Given the description of an element on the screen output the (x, y) to click on. 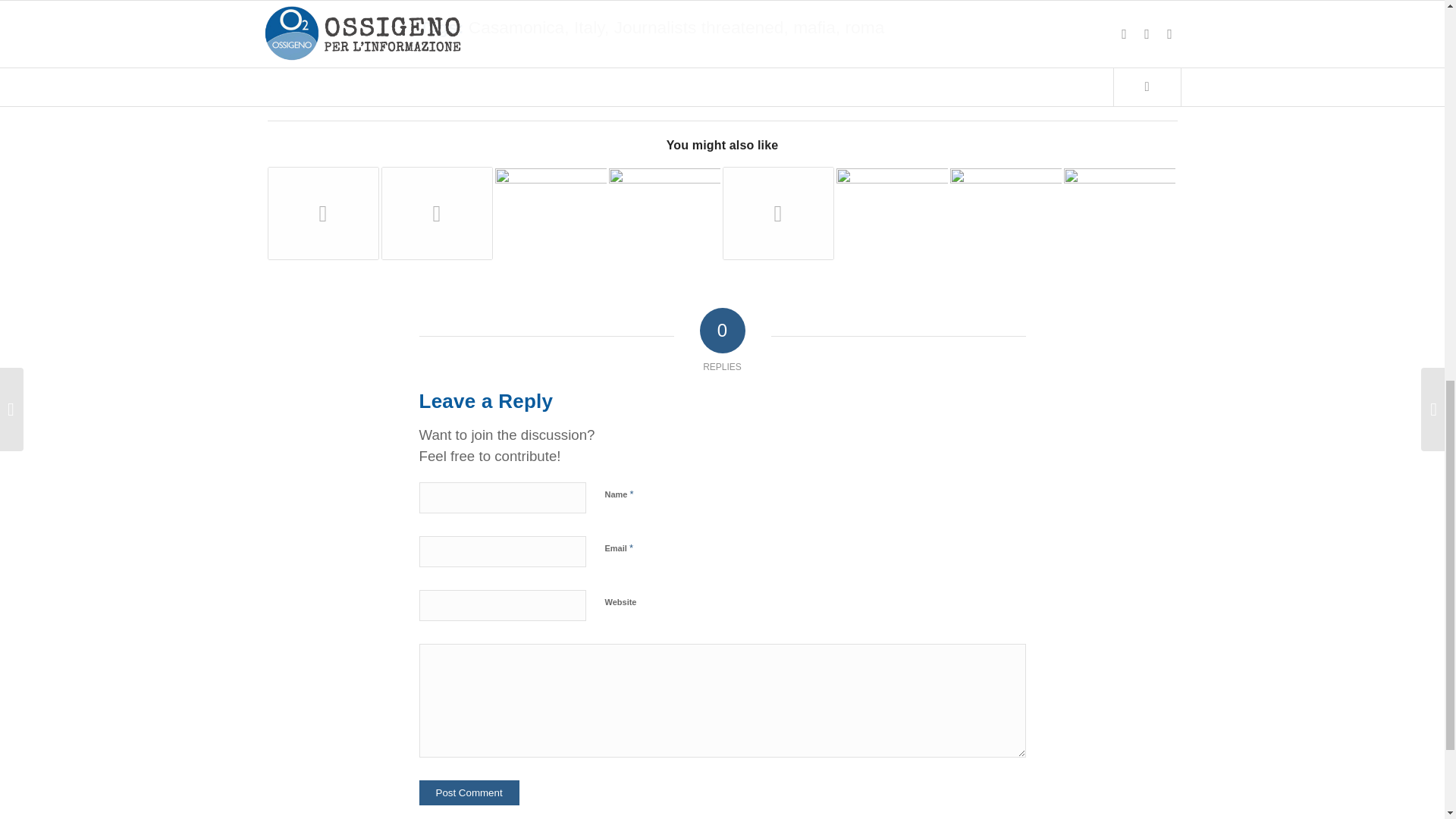
Journalists threatened (699, 26)
roma (863, 26)
mafia (814, 26)
Post Comment (468, 792)
Italy (588, 26)
Casamonica (516, 26)
